Given the description of an element on the screen output the (x, y) to click on. 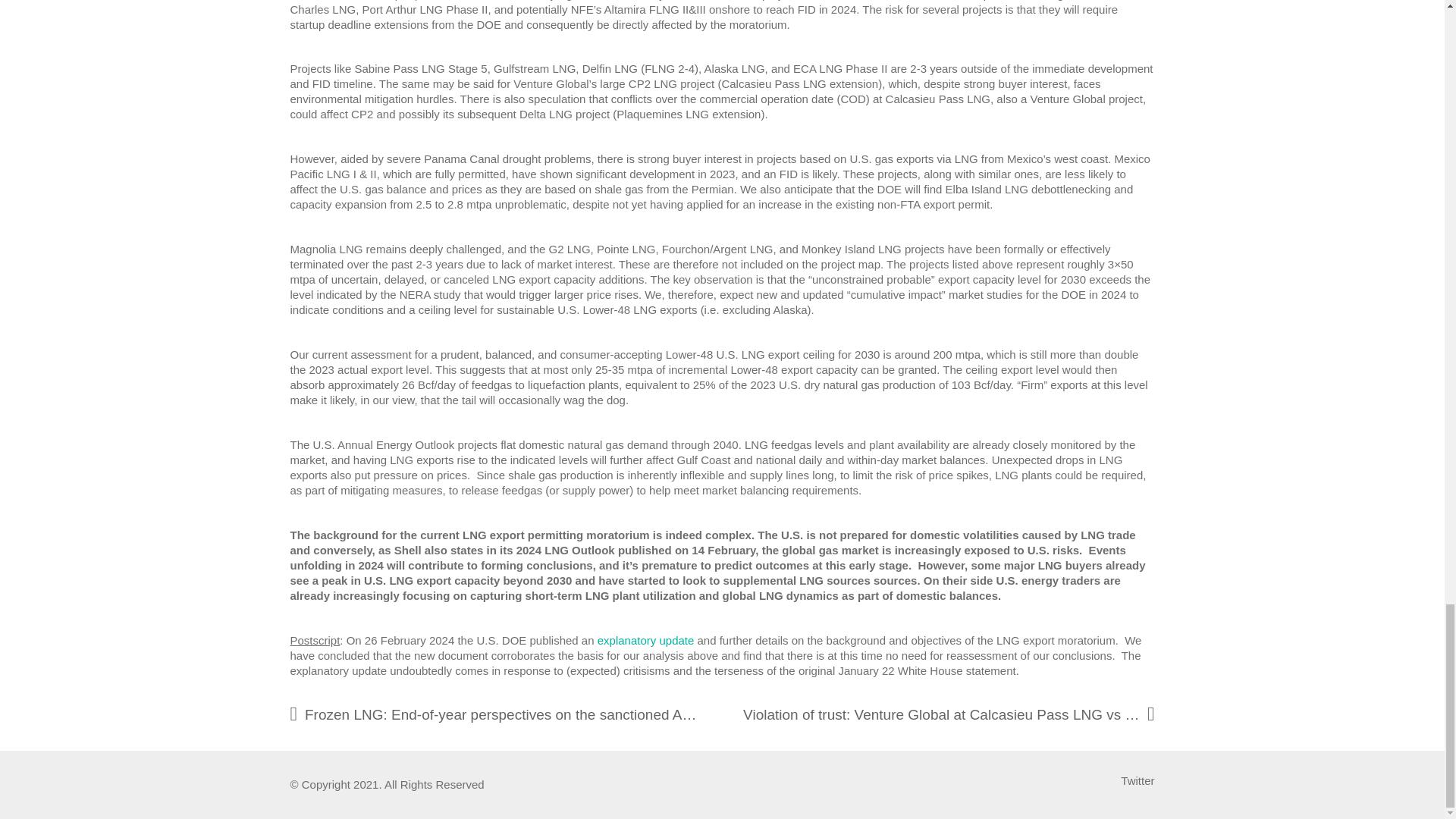
explanatory update (645, 640)
Twitter (1137, 780)
Twitter (1137, 780)
